Given the description of an element on the screen output the (x, y) to click on. 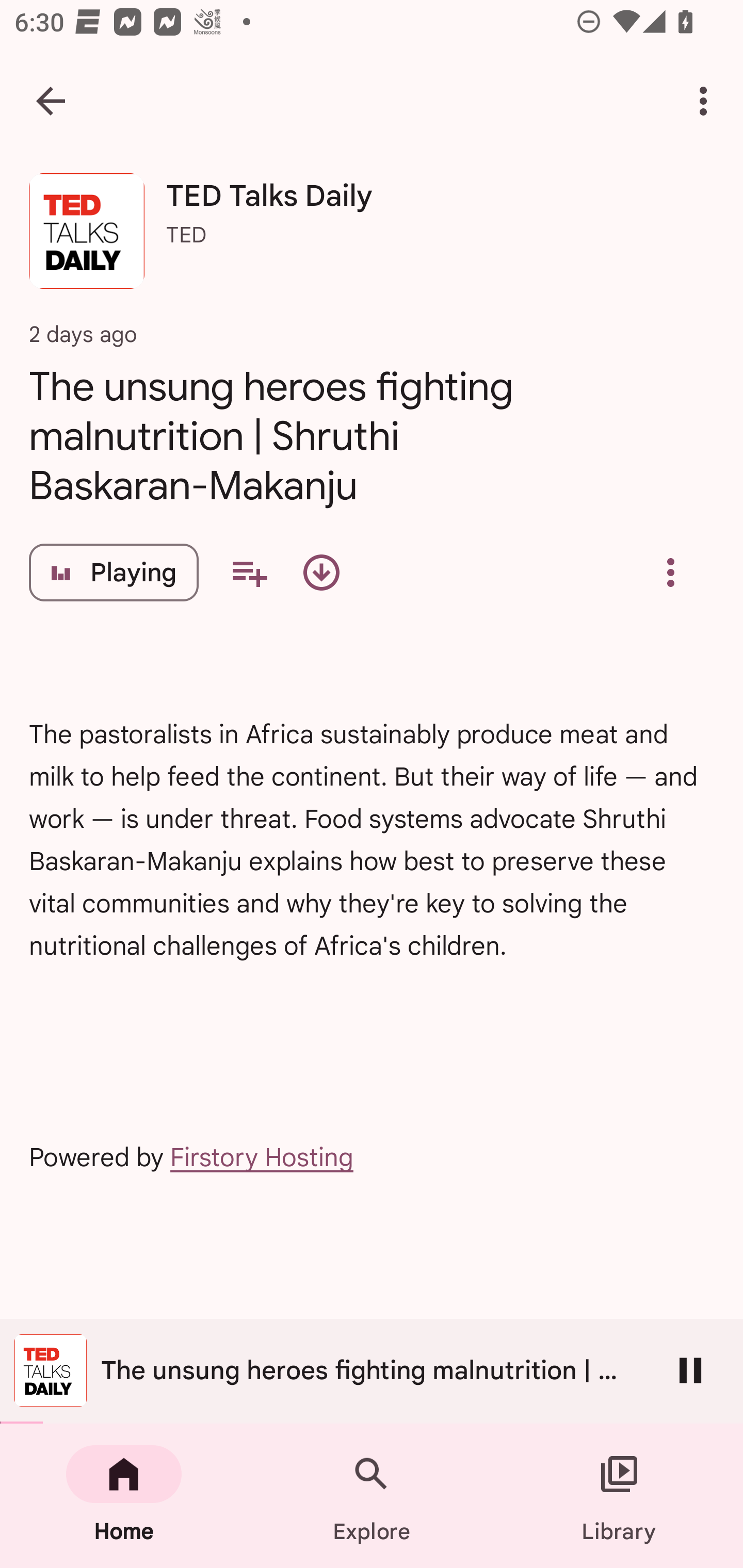
Navigate up (50, 101)
More options (706, 101)
TED Talks Daily TED Talks Daily TED (371, 238)
Add to your queue (249, 572)
Download episode (321, 572)
Overflow menu (670, 572)
Pause (690, 1370)
Explore (371, 1495)
Library (619, 1495)
